Given the description of an element on the screen output the (x, y) to click on. 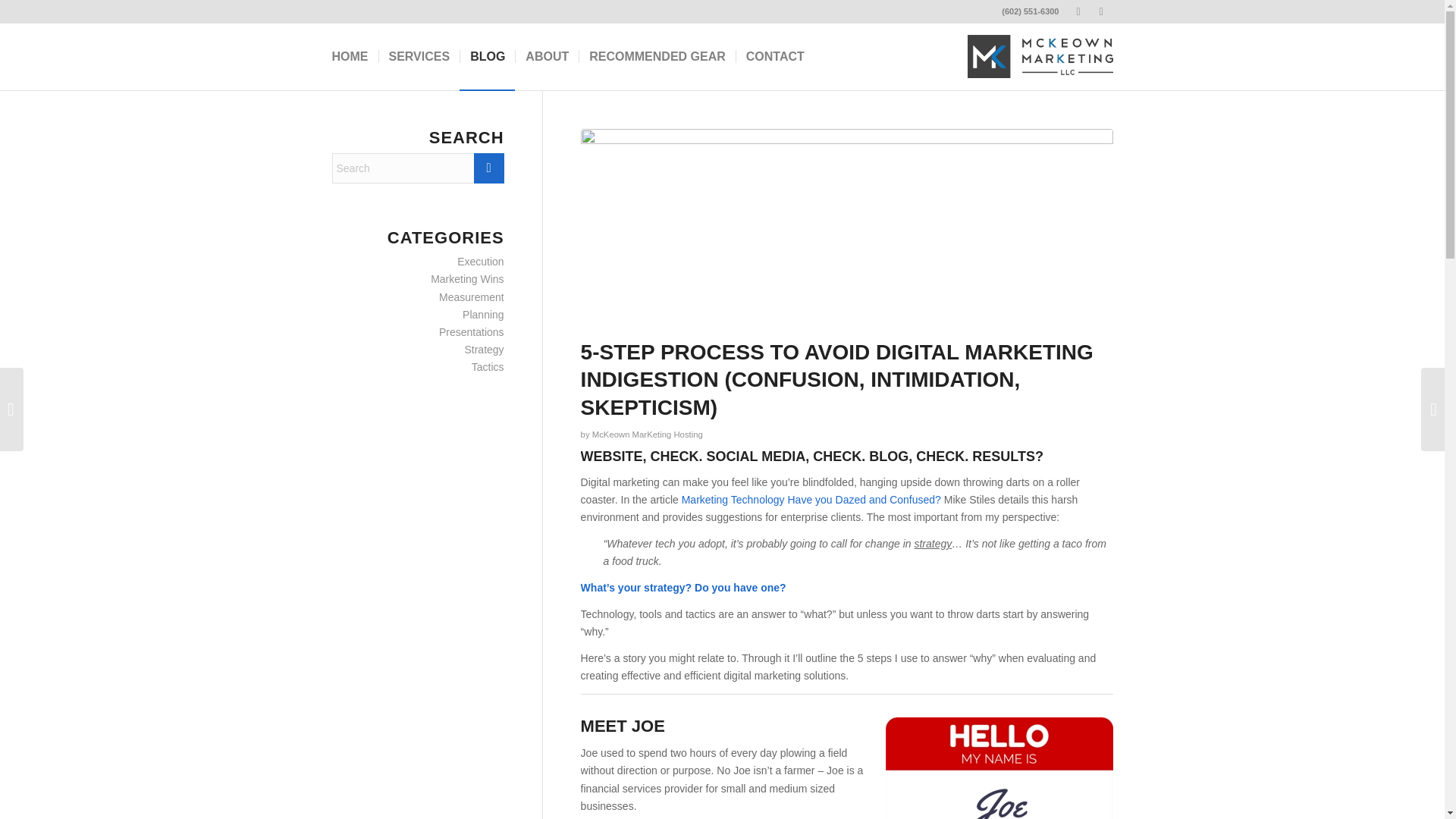
Execution (480, 261)
RECOMMENDED GEAR (656, 56)
Marketing Technology Have you Dazed and Confused? (810, 499)
McKeown.Marketing-Logo-website (1040, 56)
Marketing Wins (466, 278)
Joe (999, 768)
ABOUT (546, 56)
Mail (1101, 11)
McKeown MarKeting Hosting (647, 433)
CONTACT (774, 56)
